Given the description of an element on the screen output the (x, y) to click on. 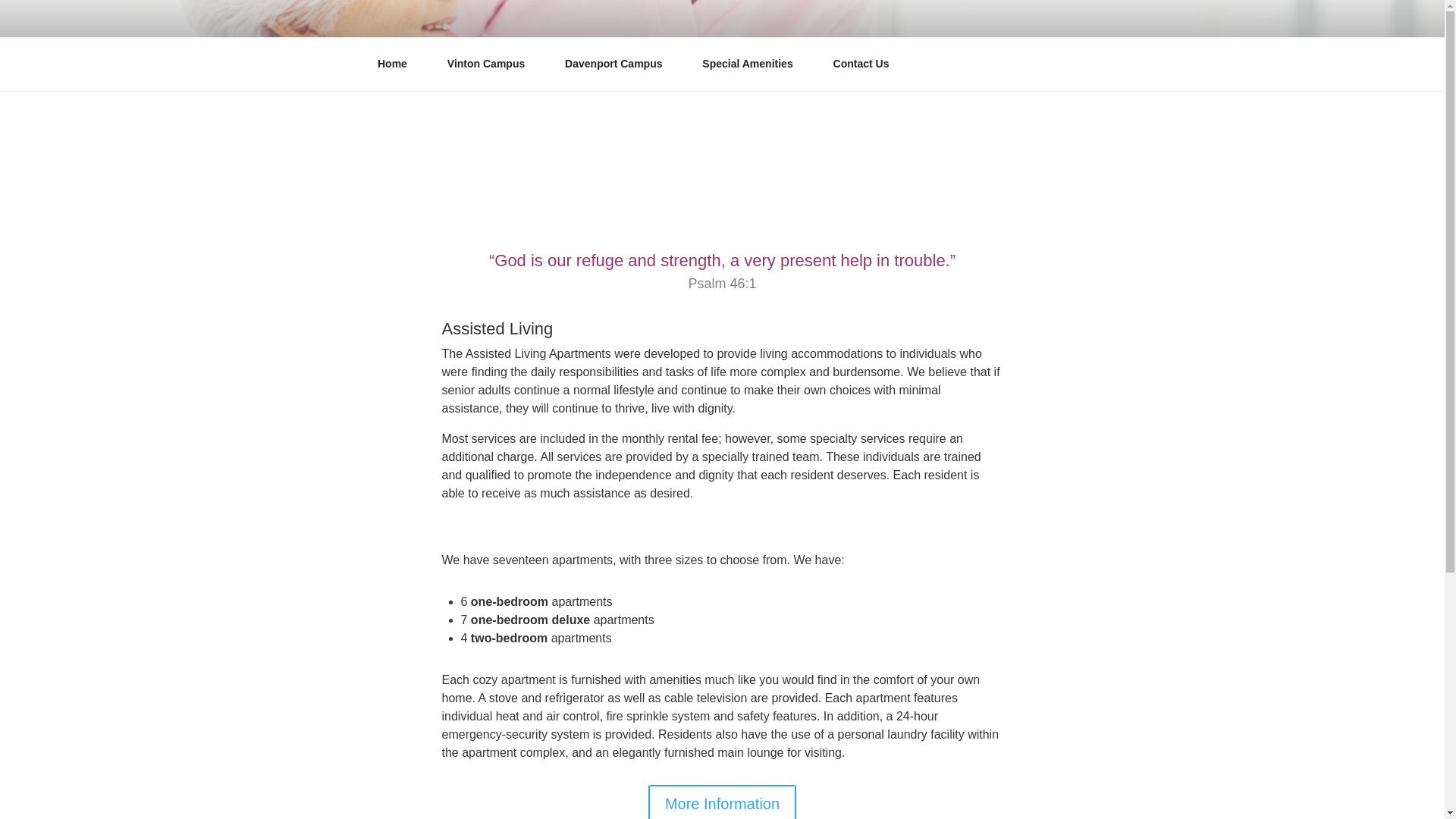
Contact Us (860, 63)
Davenport Campus (618, 63)
Vinton Campus (490, 63)
More Information (721, 801)
Special Amenities (752, 63)
Home (397, 63)
